Given the description of an element on the screen output the (x, y) to click on. 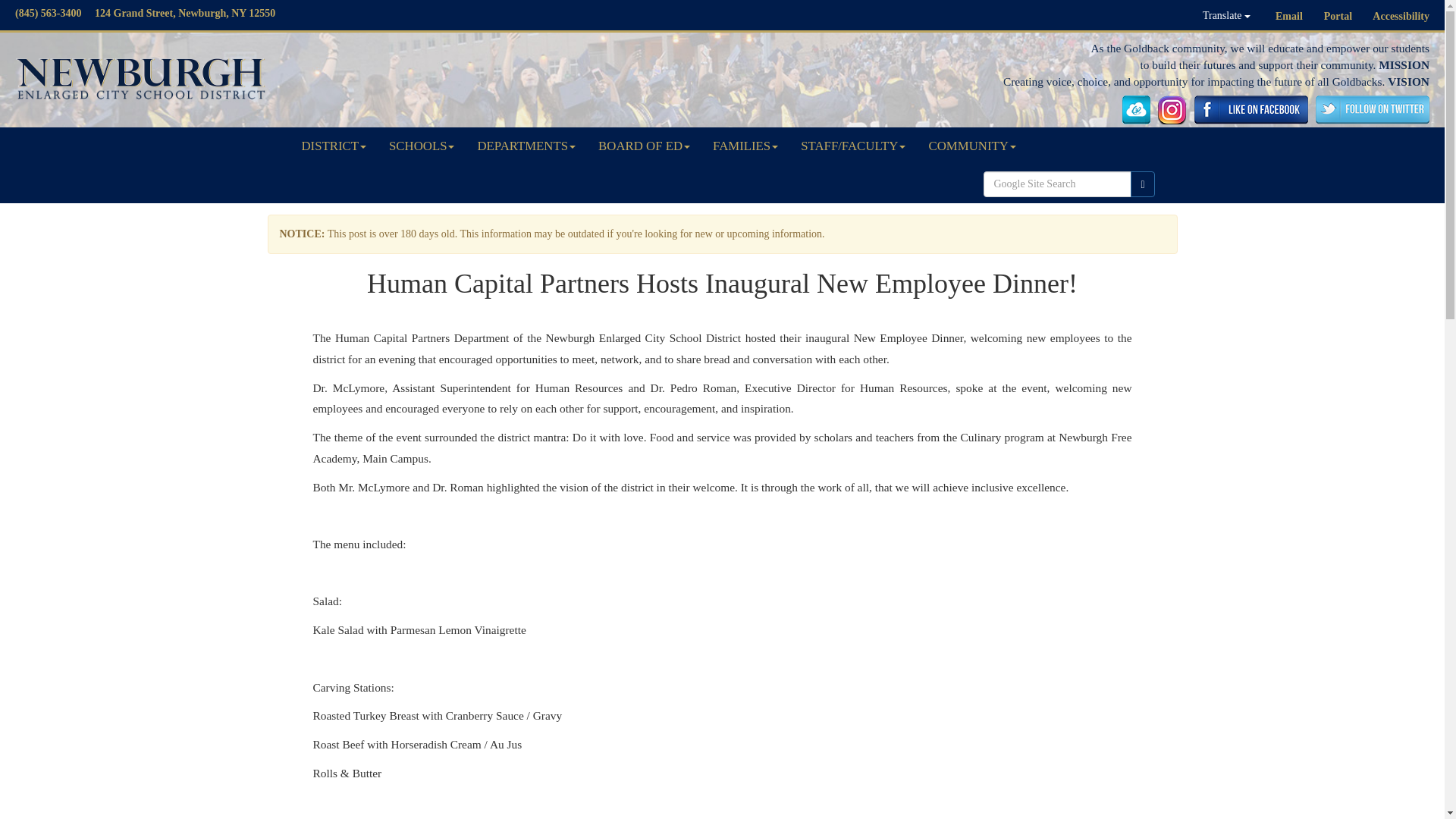
SCHOOLS (421, 146)
DISTRICT (333, 146)
Email (1289, 16)
Accessibility (1401, 16)
Portal (1337, 16)
Translate (1226, 15)
